Given the description of an element on the screen output the (x, y) to click on. 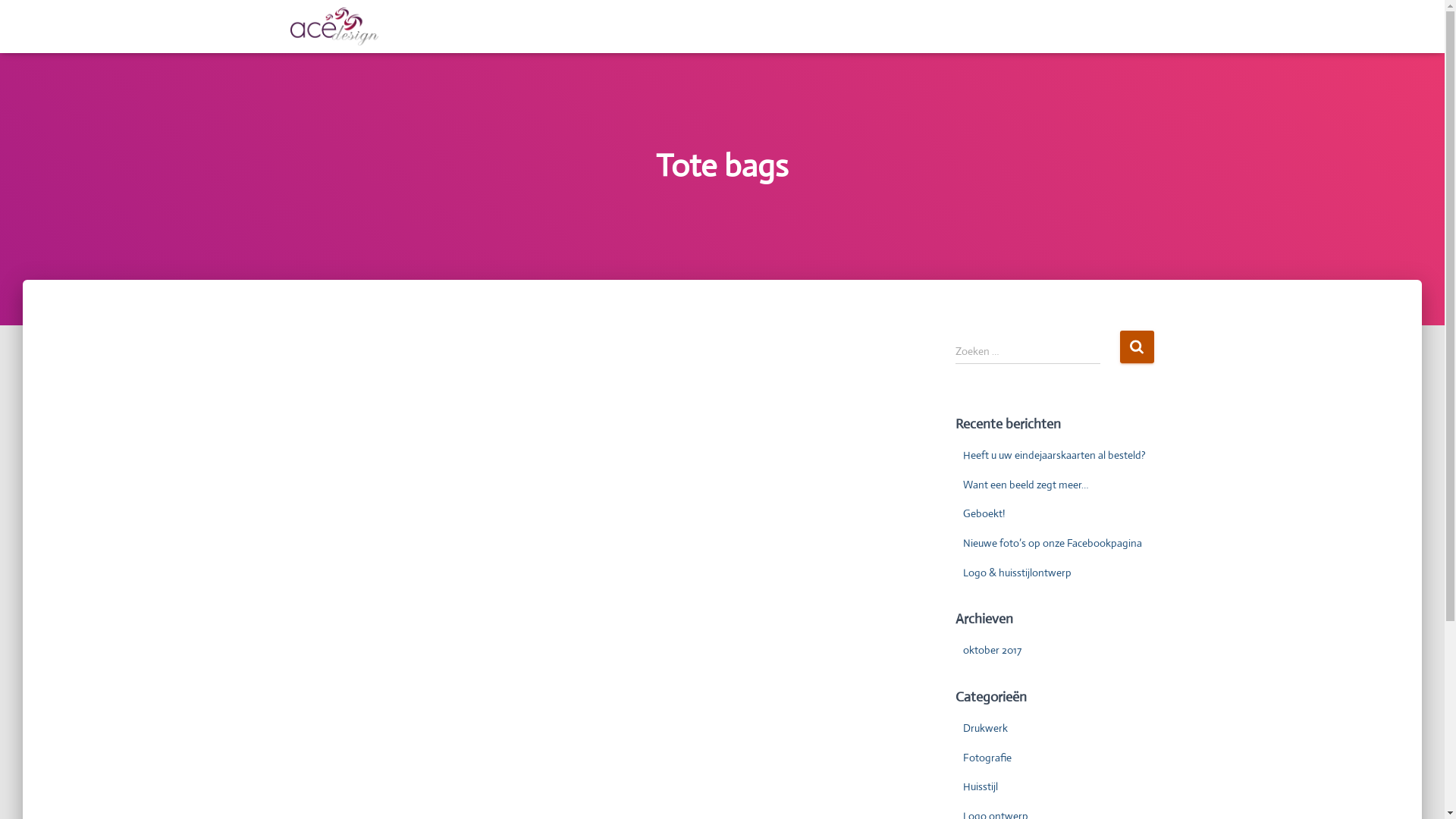
Geboekt! Element type: text (983, 513)
Heeft u uw eindejaarskaarten al besteld? Element type: text (1054, 454)
oktober 2017 Element type: text (992, 649)
Zoeken Element type: text (1136, 346)
Drukwerk Element type: text (985, 727)
Logo & huisstijlontwerp Element type: text (1017, 572)
Huisstijl Element type: text (980, 786)
Fotografie Element type: text (987, 757)
Ace Design Element type: hover (334, 26)
